Given the description of an element on the screen output the (x, y) to click on. 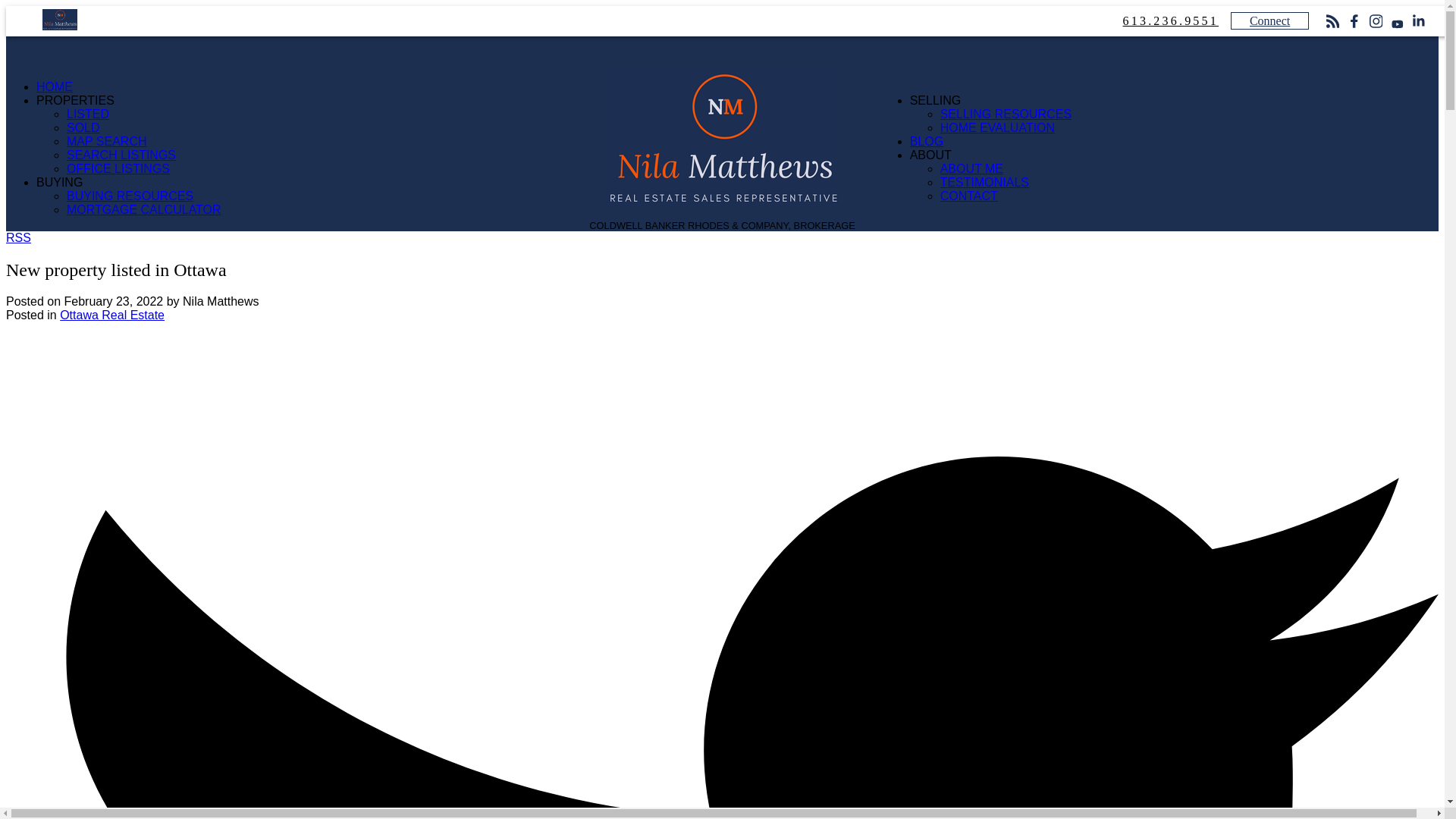
ABOUT ME (971, 168)
BLOG (926, 141)
SELLING RESOURCES (1005, 113)
SEARCH LISTINGS (121, 154)
HOME (54, 86)
Ottawa Real Estate (111, 314)
RSS (17, 237)
MAP SEARCH (106, 141)
HOME EVALUATION (997, 127)
Connect (1269, 20)
